Given the description of an element on the screen output the (x, y) to click on. 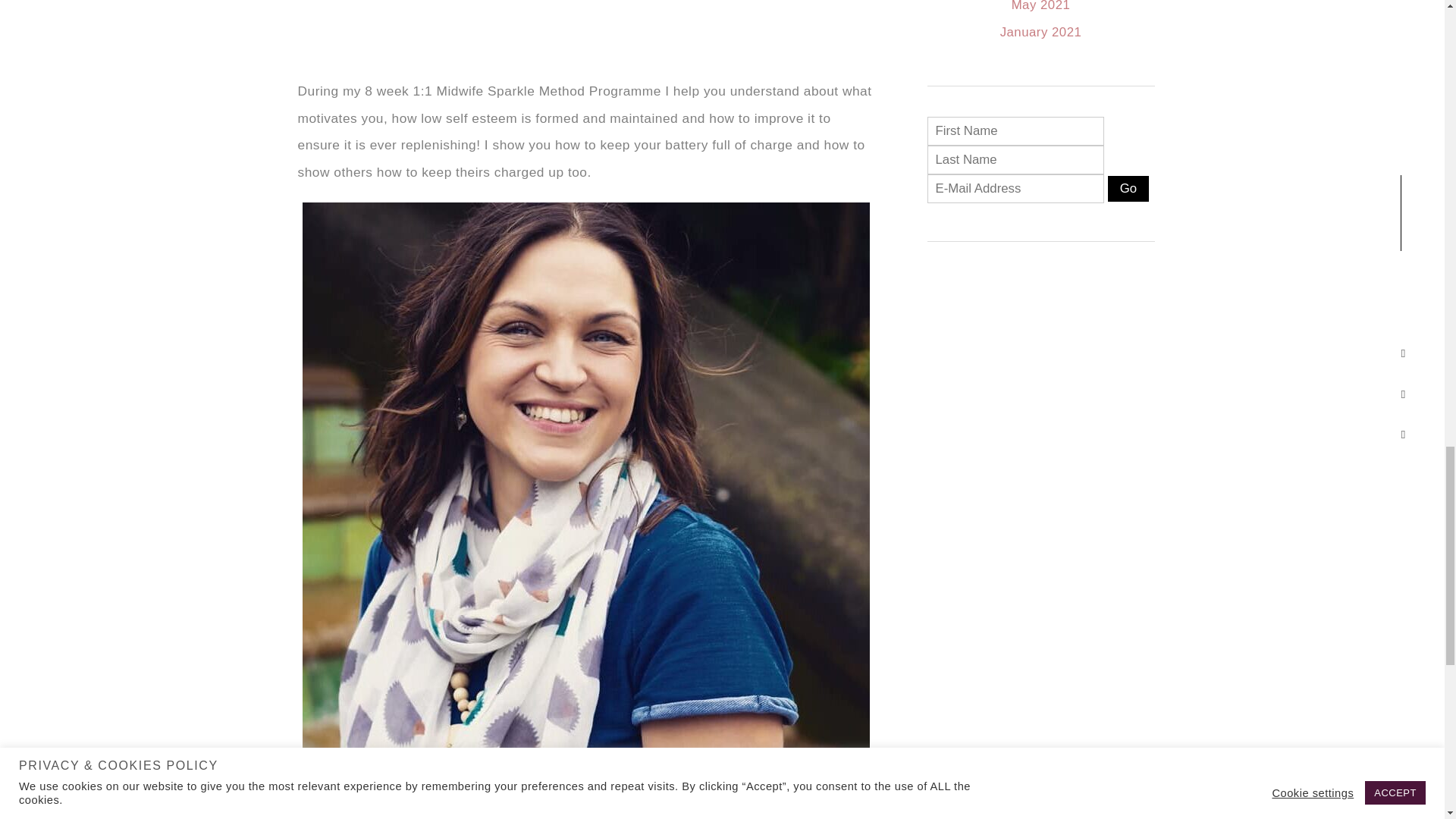
Go (1128, 189)
